Given the description of an element on the screen output the (x, y) to click on. 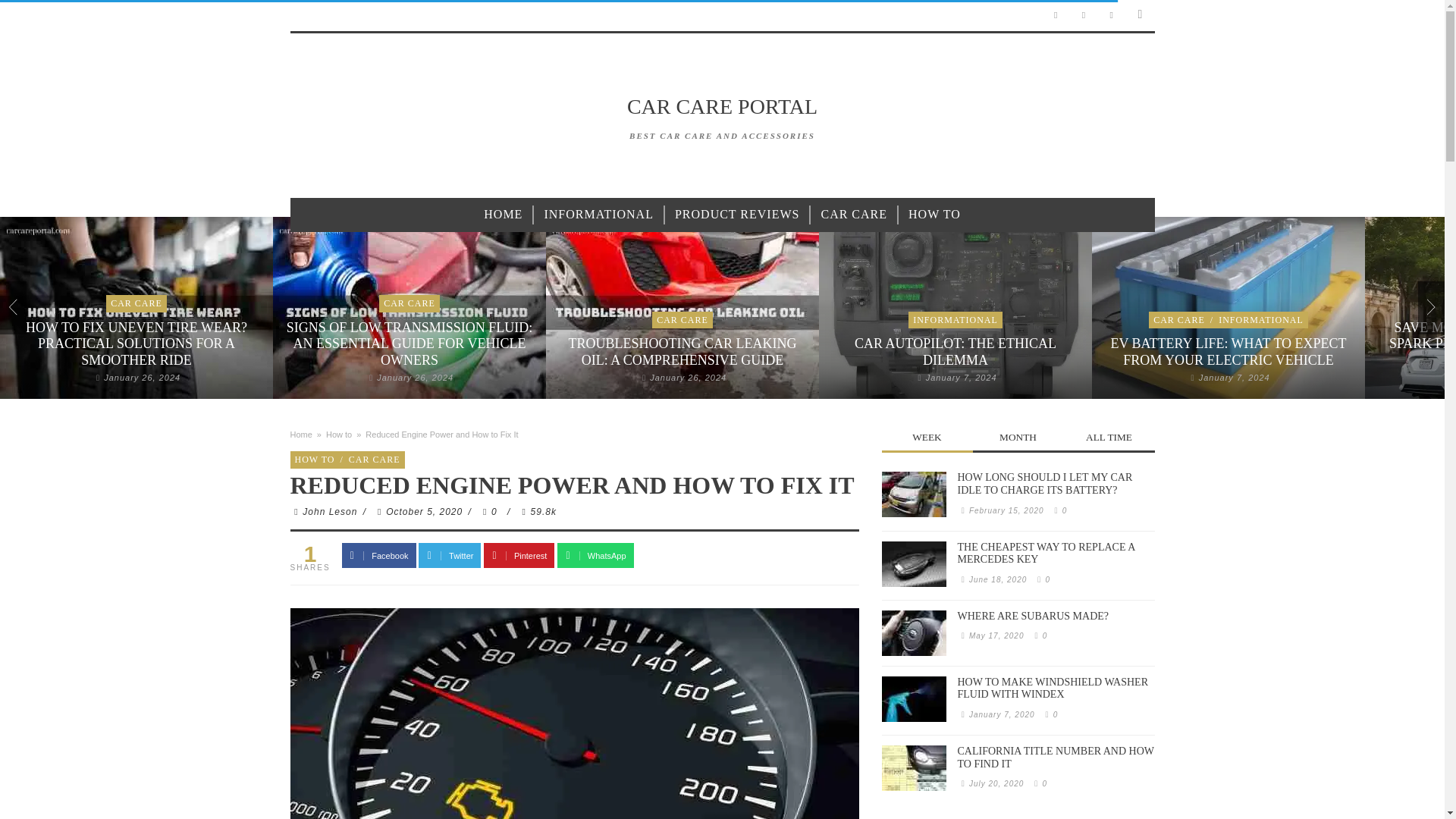
CAR CARE (136, 303)
January 7, 2024 (961, 377)
CAR CARE (1179, 318)
HOME (502, 214)
Twitter (1111, 15)
PRODUCT REVIEWS (737, 214)
CAR CARE (853, 214)
